Given the description of an element on the screen output the (x, y) to click on. 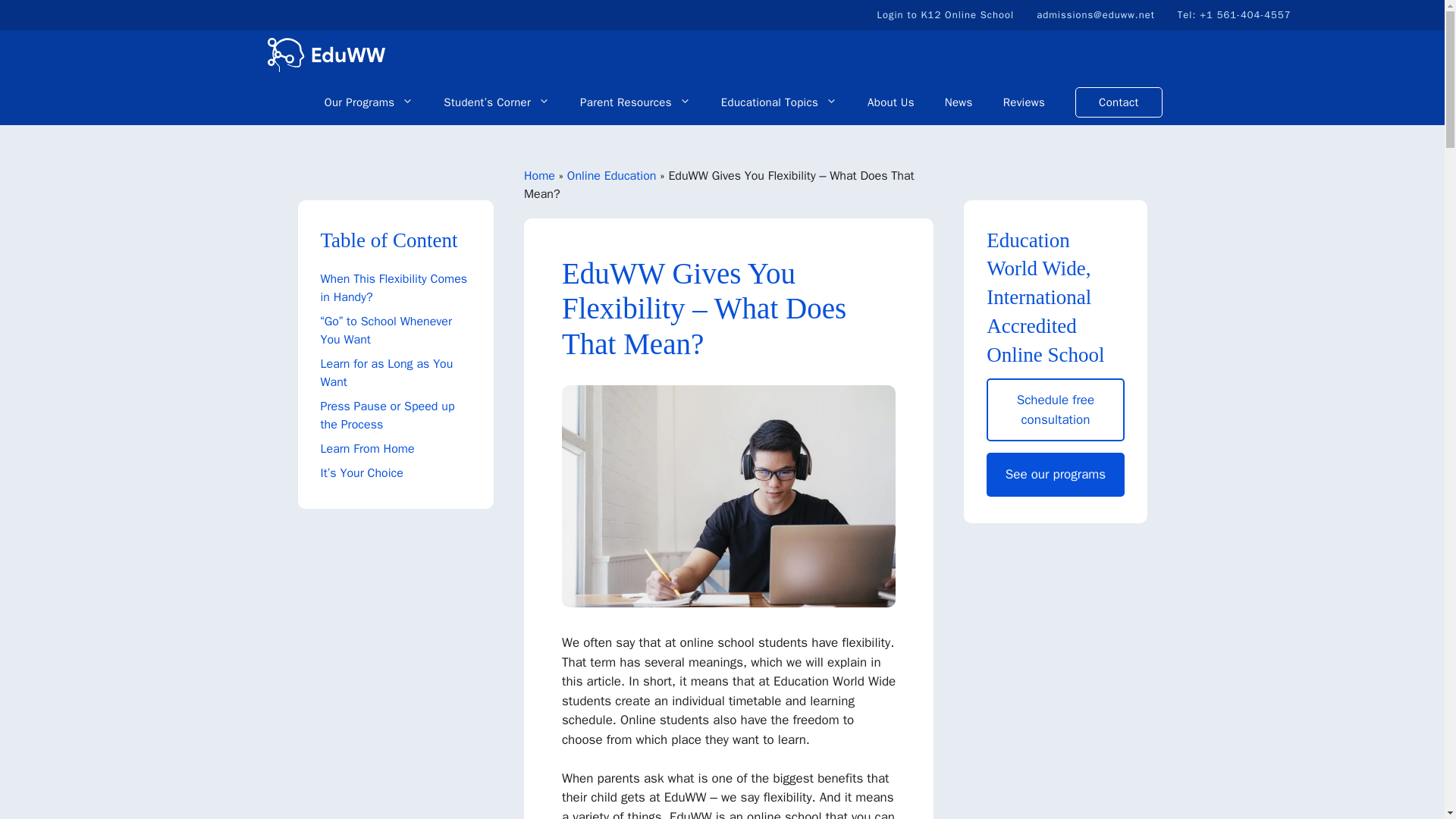
About Us (890, 101)
Educational Topics (778, 101)
Education World Wide (325, 54)
Parent Resources (635, 101)
Our Programs (368, 101)
Login to K12 Online School (944, 14)
News (959, 101)
Reviews (1023, 101)
